Given the description of an element on the screen output the (x, y) to click on. 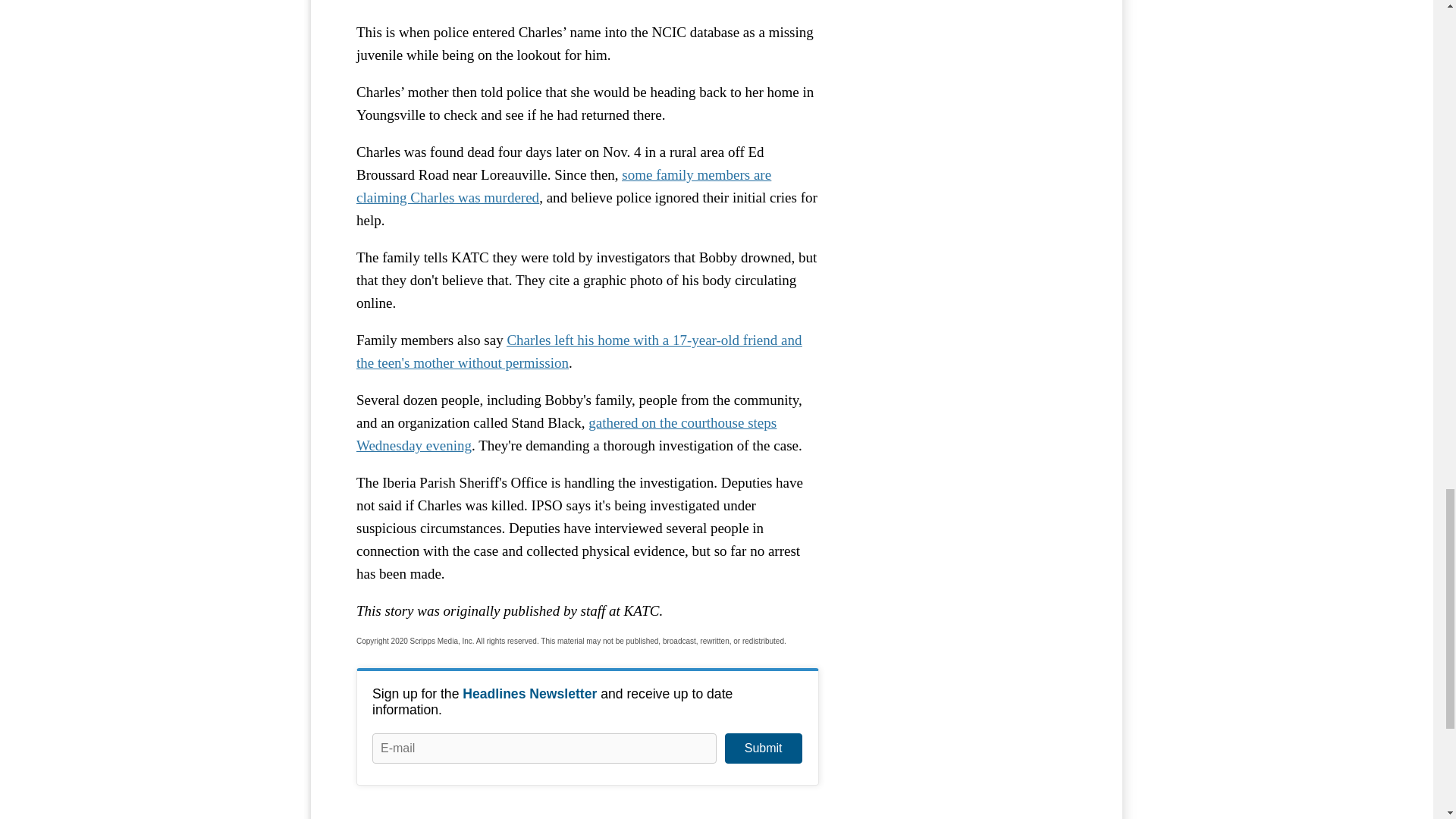
Submit (763, 748)
